Given the description of an element on the screen output the (x, y) to click on. 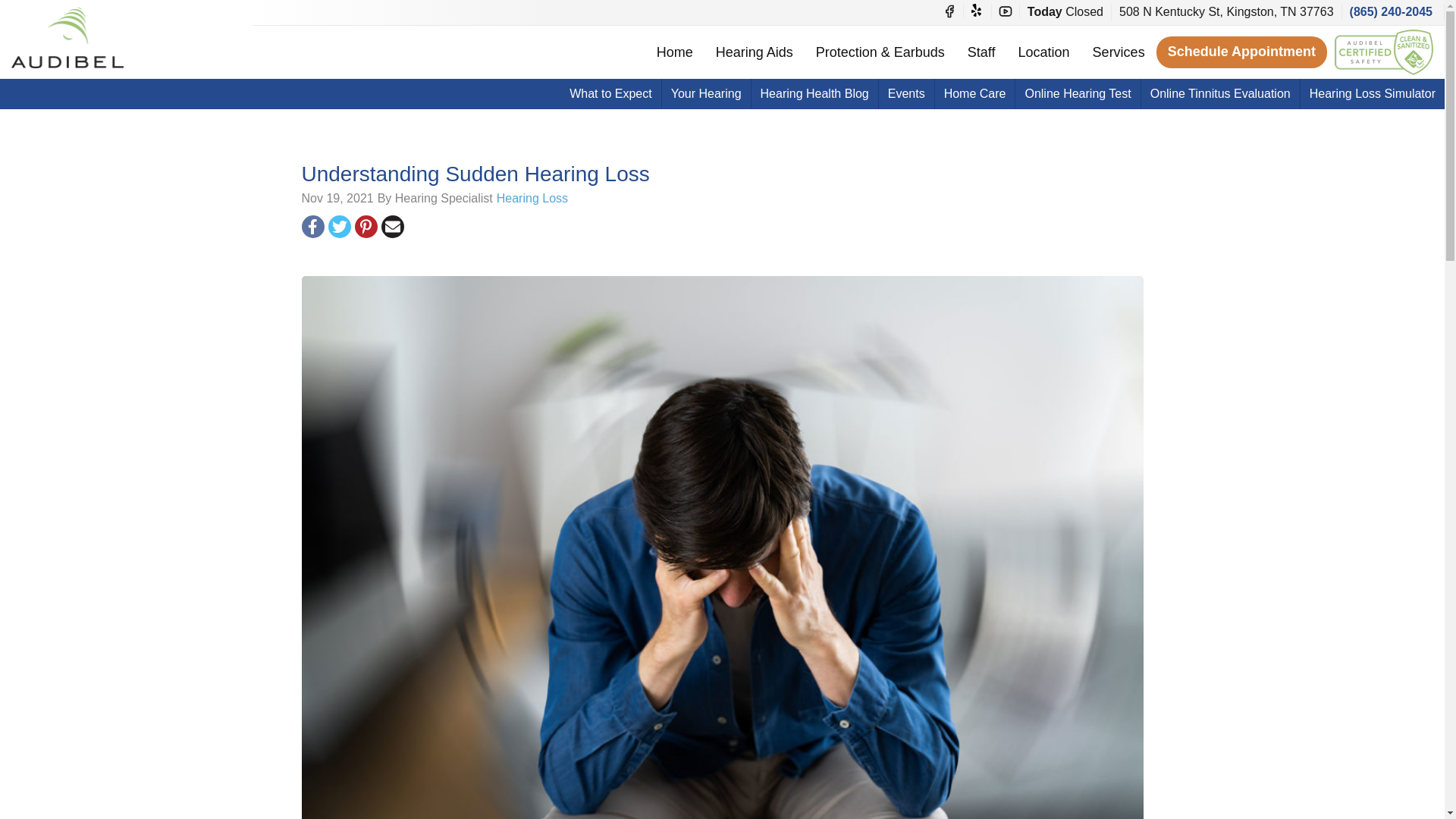
Location (1044, 51)
Home Care (974, 93)
Hearing Aids (754, 51)
Staff (981, 51)
Online Tinnitus Evaluation (1220, 93)
Audibel Hearing Center Yelp (977, 11)
Hearing Health Blog (814, 93)
Online Hearing Test (1077, 93)
What to Expect (610, 93)
homepage (67, 37)
Schedule Appointment (1241, 51)
Audibel Hearing Center Youtube (1005, 11)
Hearing Loss (531, 197)
Events (906, 93)
Audibel Hearing Center Facebook (949, 11)
